Given the description of an element on the screen output the (x, y) to click on. 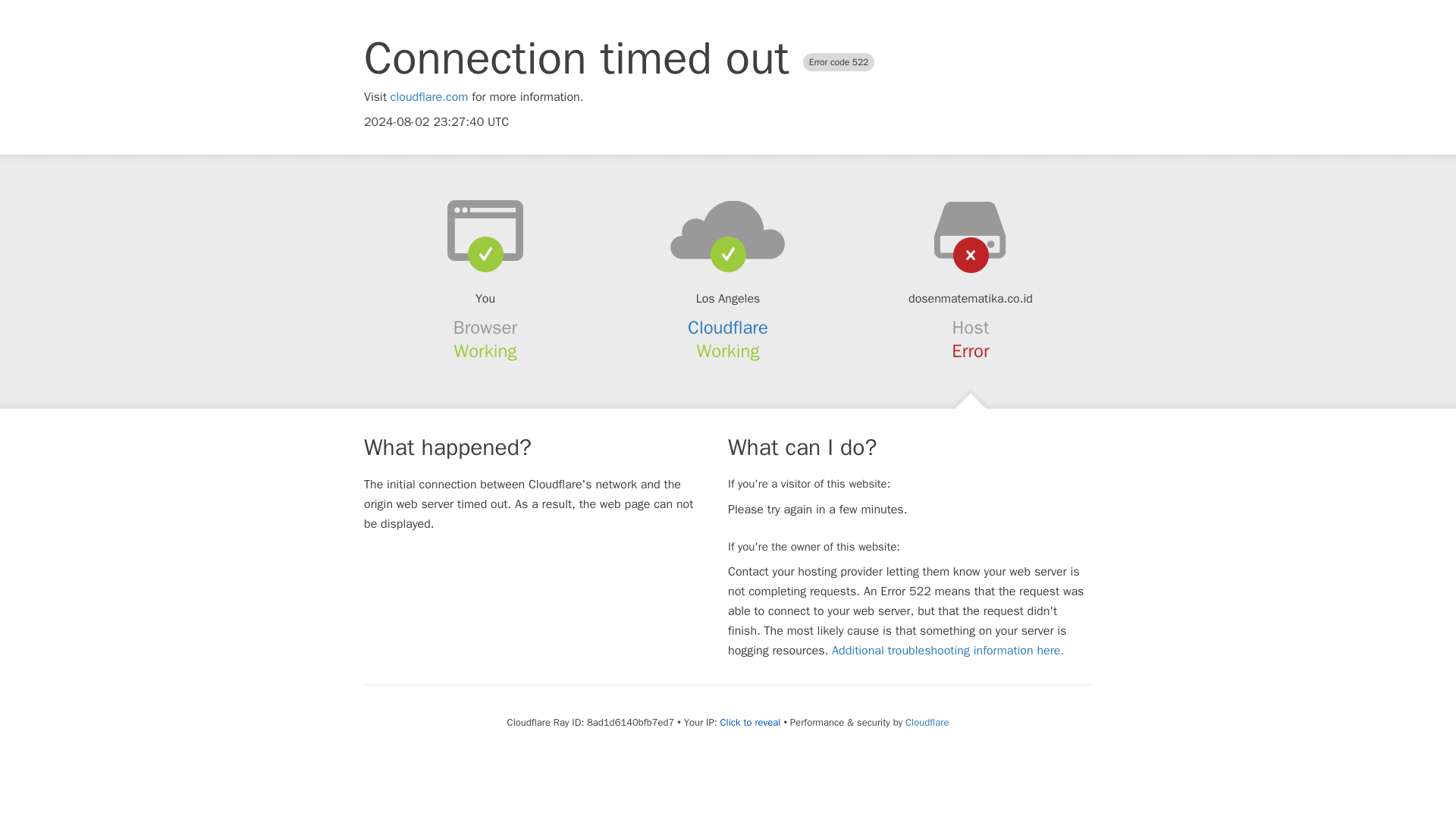
Additional troubleshooting information here. (947, 650)
Cloudflare (927, 721)
Click to reveal (750, 722)
Cloudflare (727, 327)
cloudflare.com (429, 96)
